Given the description of an element on the screen output the (x, y) to click on. 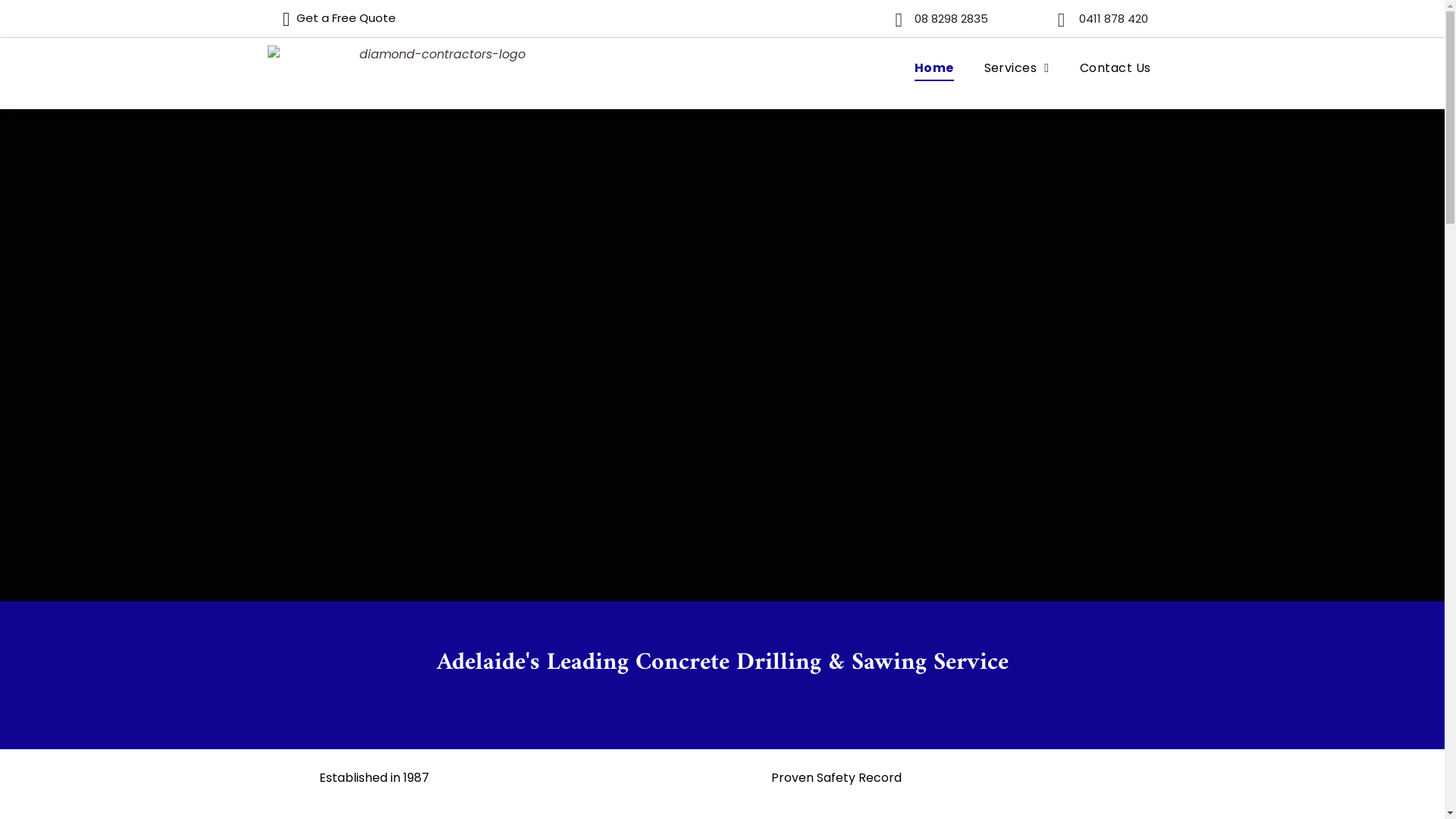
Services Element type: text (1016, 68)
08 8298 2835 Element type: text (946, 18)
Contact Us Element type: text (1115, 68)
0411 878 420 Element type: text (1108, 18)
Get a Free Quote Element type: text (333, 17)
Home Element type: text (934, 68)
